Given the description of an element on the screen output the (x, y) to click on. 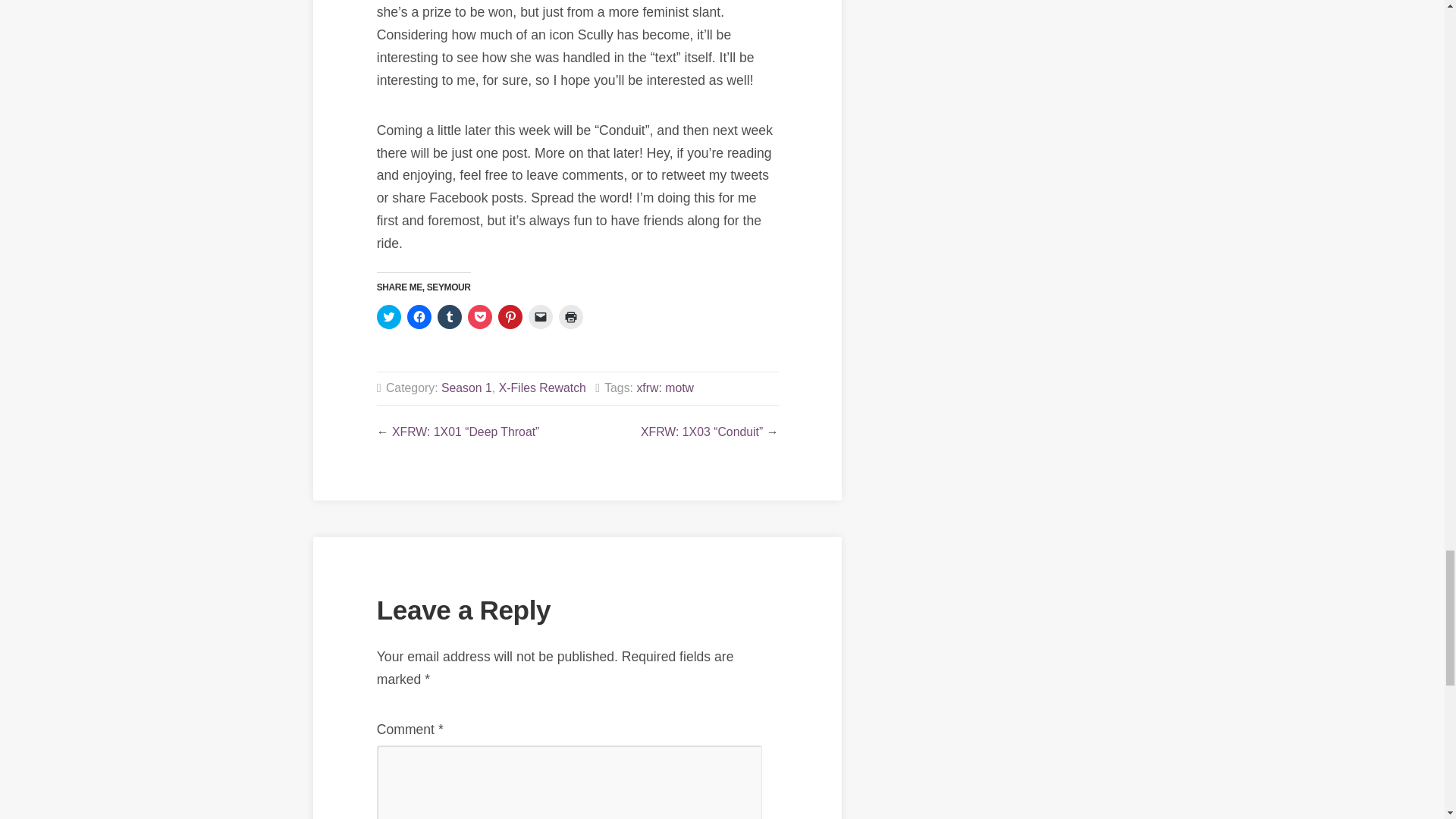
X-Files Rewatch (542, 387)
Click to share on Tumblr (449, 316)
Click to print (571, 316)
Season 1 (466, 387)
Click to share on Twitter (389, 316)
xfrw: motw (665, 387)
Click to share on Pocket (479, 316)
Click to email a link to a friend (540, 316)
Click to share on Facebook (418, 316)
Click to share on Pinterest (509, 316)
